Given the description of an element on the screen output the (x, y) to click on. 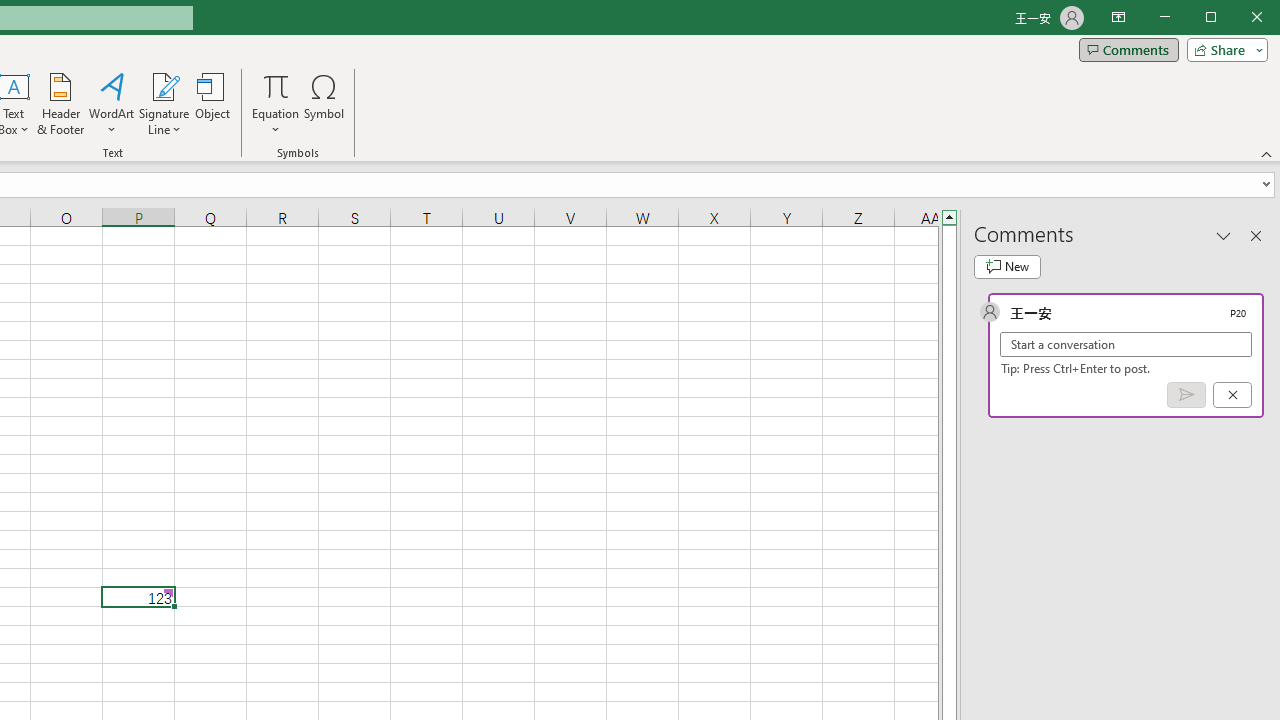
WordArt (111, 104)
Equation (275, 86)
Object... (213, 104)
Cancel (1232, 395)
Equation (275, 104)
New comment (1007, 266)
Symbol... (324, 104)
Post comment (Ctrl + Enter) (1186, 395)
Task Pane Options (1224, 235)
